Given the description of an element on the screen output the (x, y) to click on. 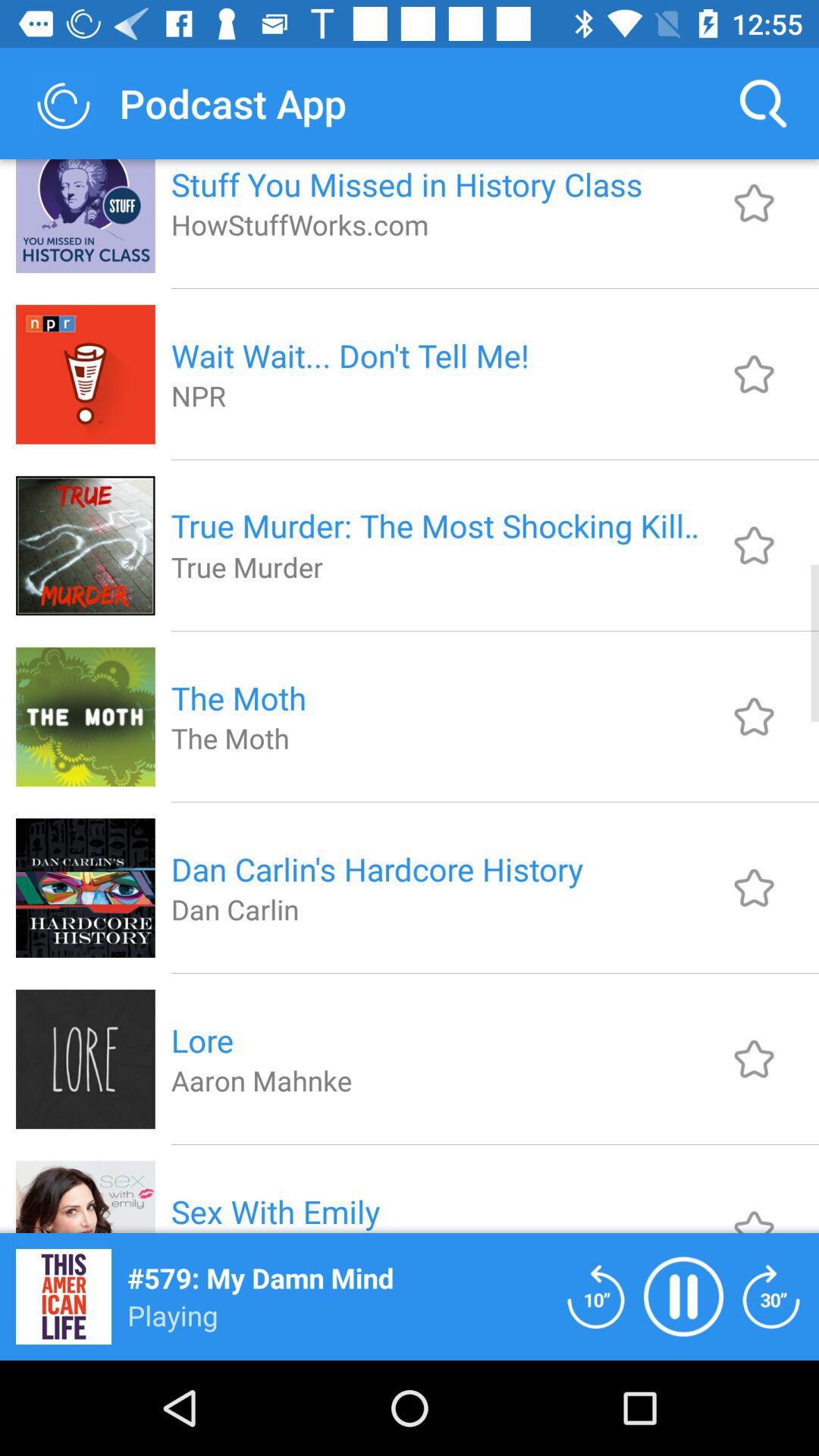
this should be under sub catagory (754, 1209)
